Given the description of an element on the screen output the (x, y) to click on. 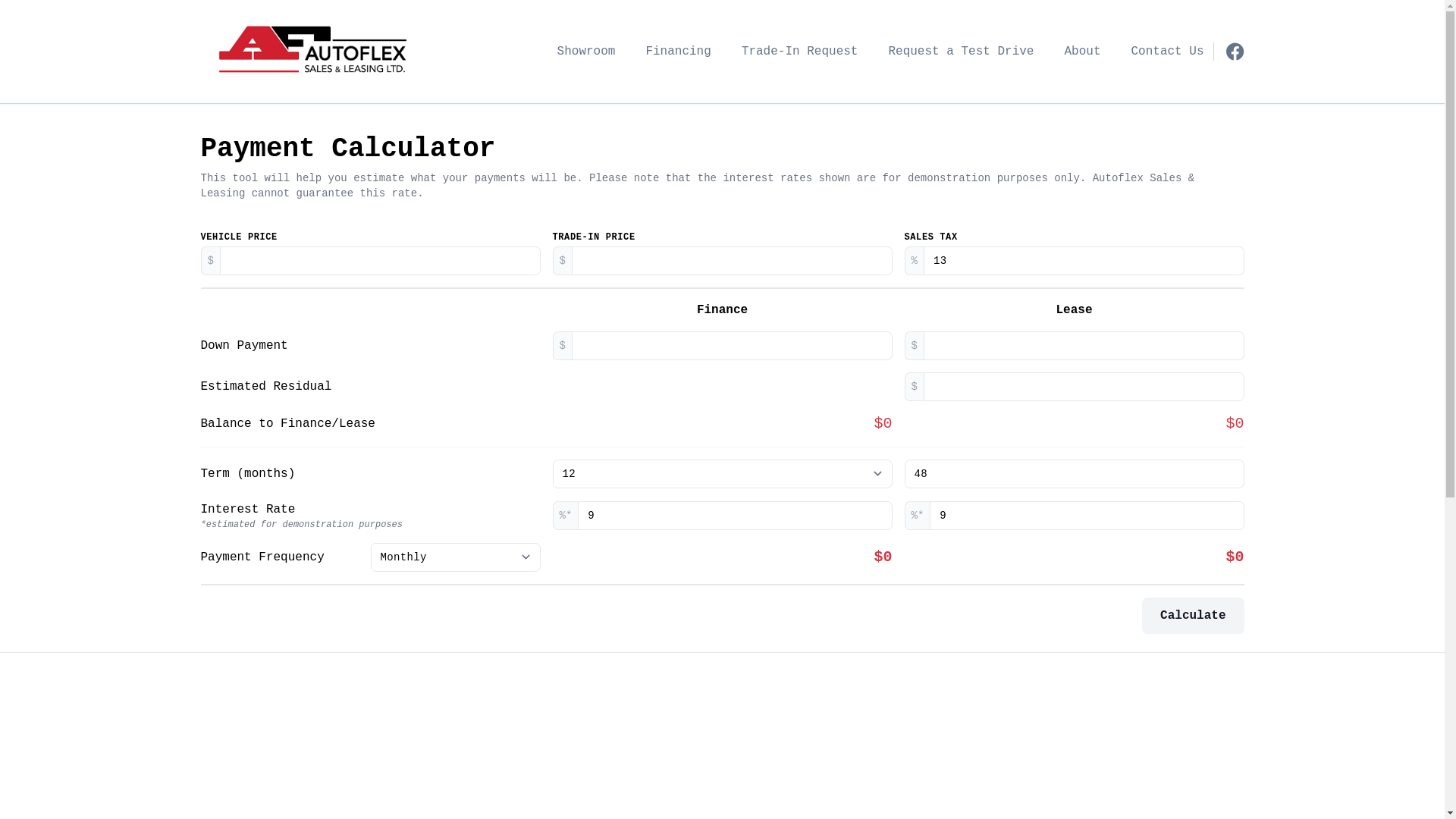
Trade-In Request Element type: text (799, 51)
Showroom Element type: text (586, 51)
Contact Us Element type: text (1166, 51)
About Element type: text (1081, 51)
Calculate Element type: text (1192, 615)
Financing Element type: text (677, 51)
Request a Test Drive Element type: text (960, 51)
